Given the description of an element on the screen output the (x, y) to click on. 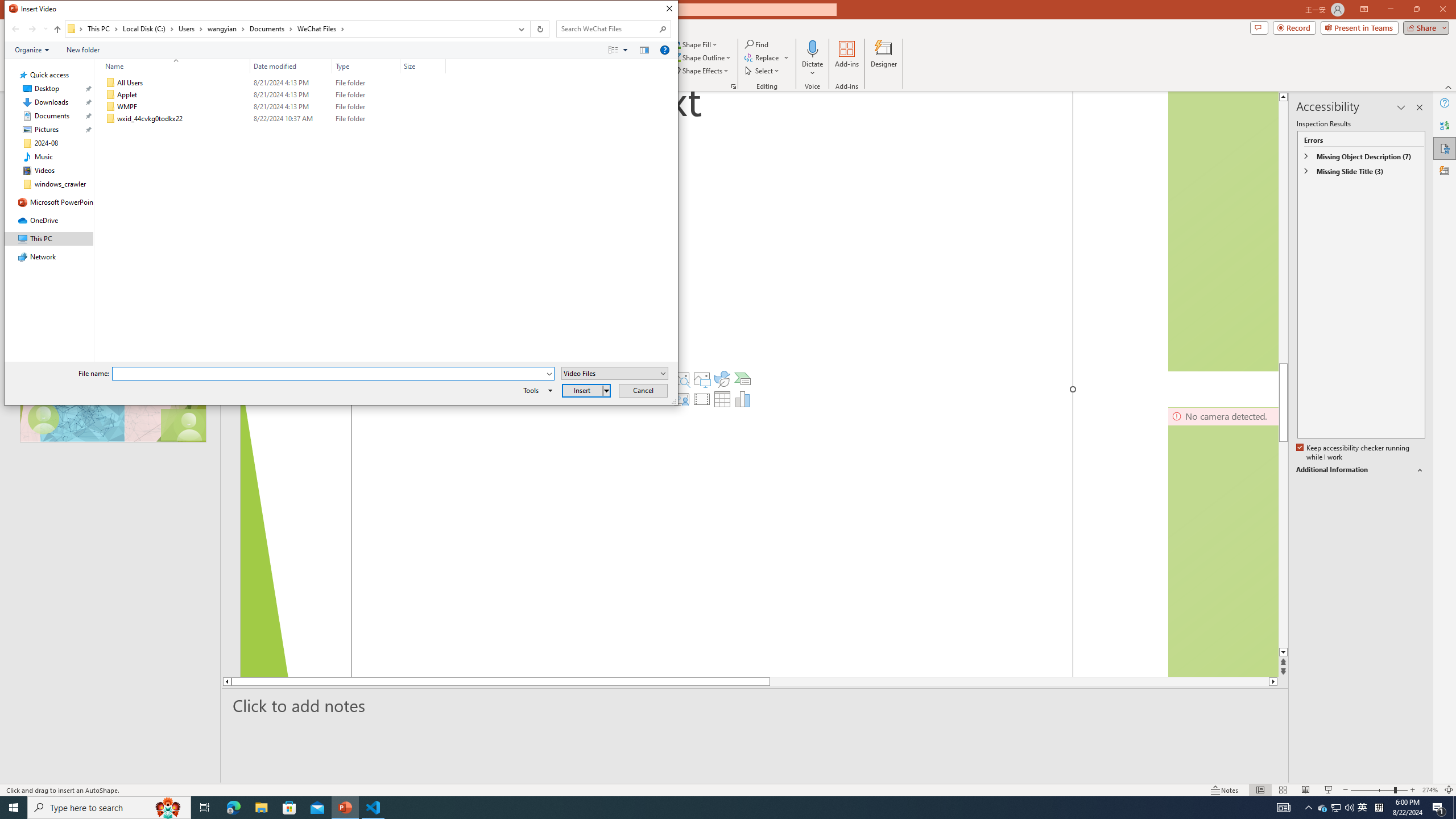
Recent locations (44, 28)
Command Module (341, 49)
Local Disk (C:) (148, 28)
Size (422, 119)
